Given the description of an element on the screen output the (x, y) to click on. 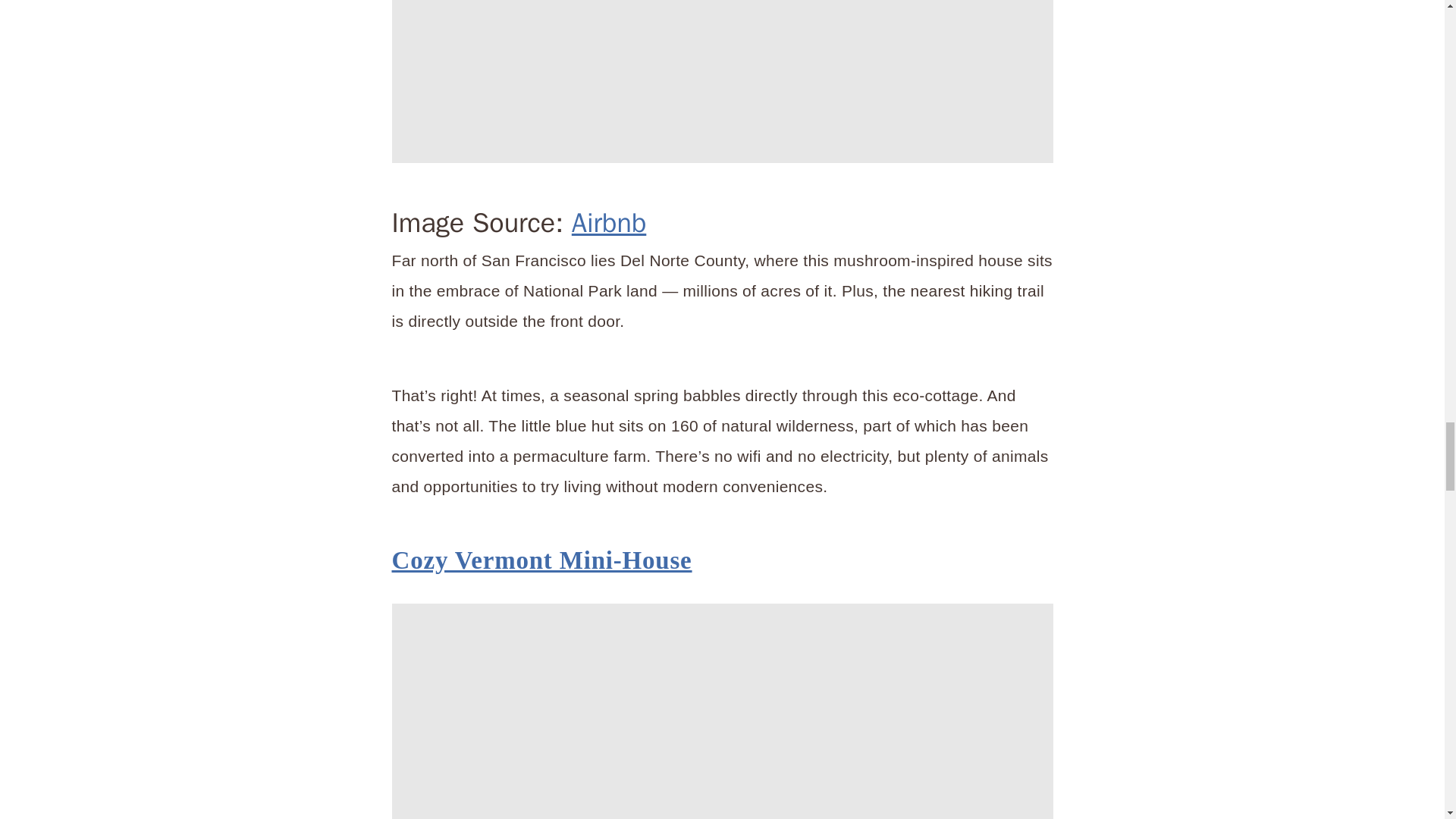
Airbnb (609, 222)
Cozy Vermont Mini-House (541, 560)
Airbnb (721, 81)
